Given the description of an element on the screen output the (x, y) to click on. 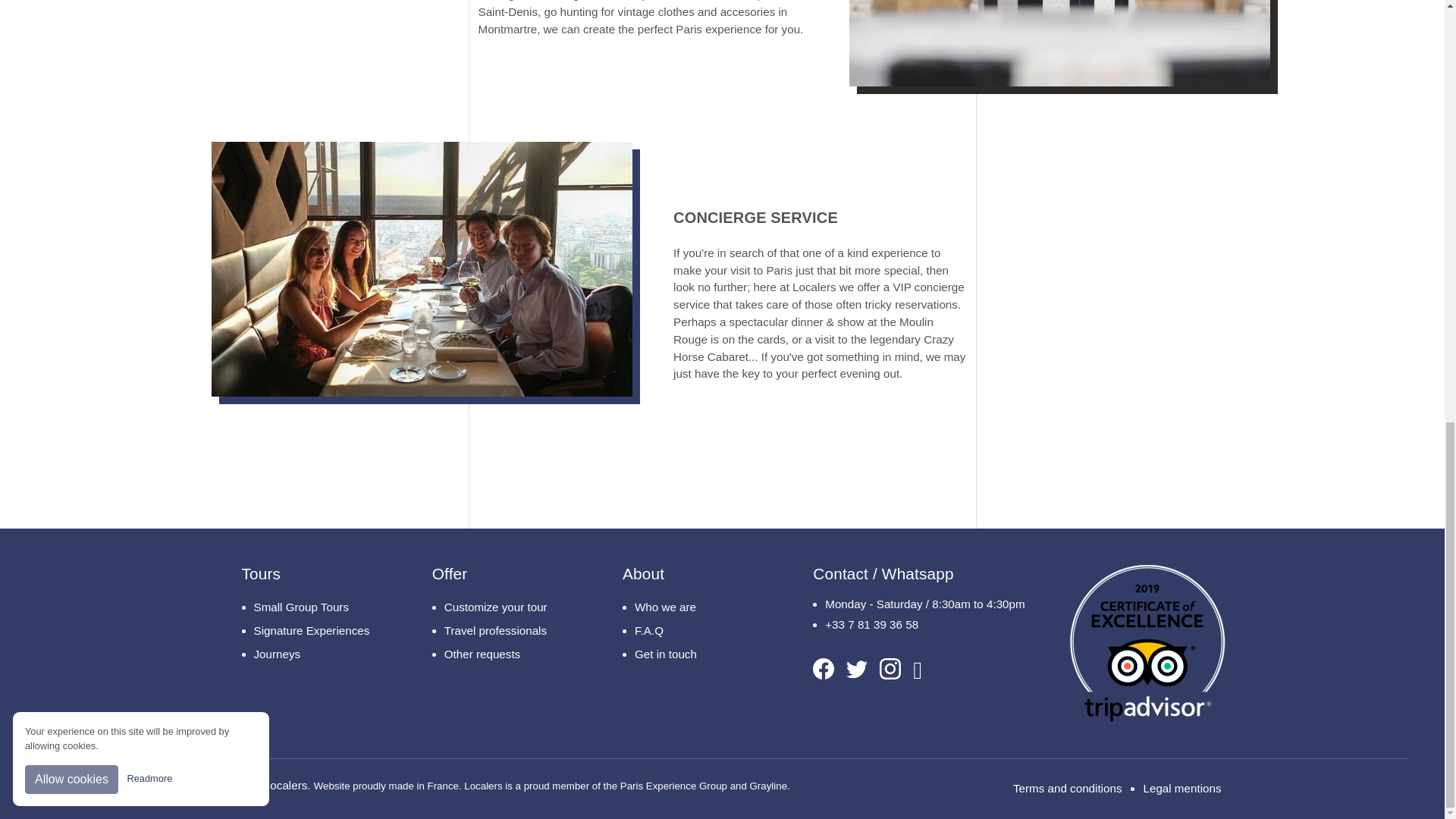
Travel professionals (504, 630)
Other requests (504, 654)
Legal mentions (1181, 788)
Who we are (694, 607)
Customize your tour (504, 607)
Small Group Tours (313, 607)
Signature Experiences (313, 630)
Terms and conditions (1067, 788)
F.A.Q (694, 630)
Get in touch (694, 654)
Journeys (313, 654)
